Given the description of an element on the screen output the (x, y) to click on. 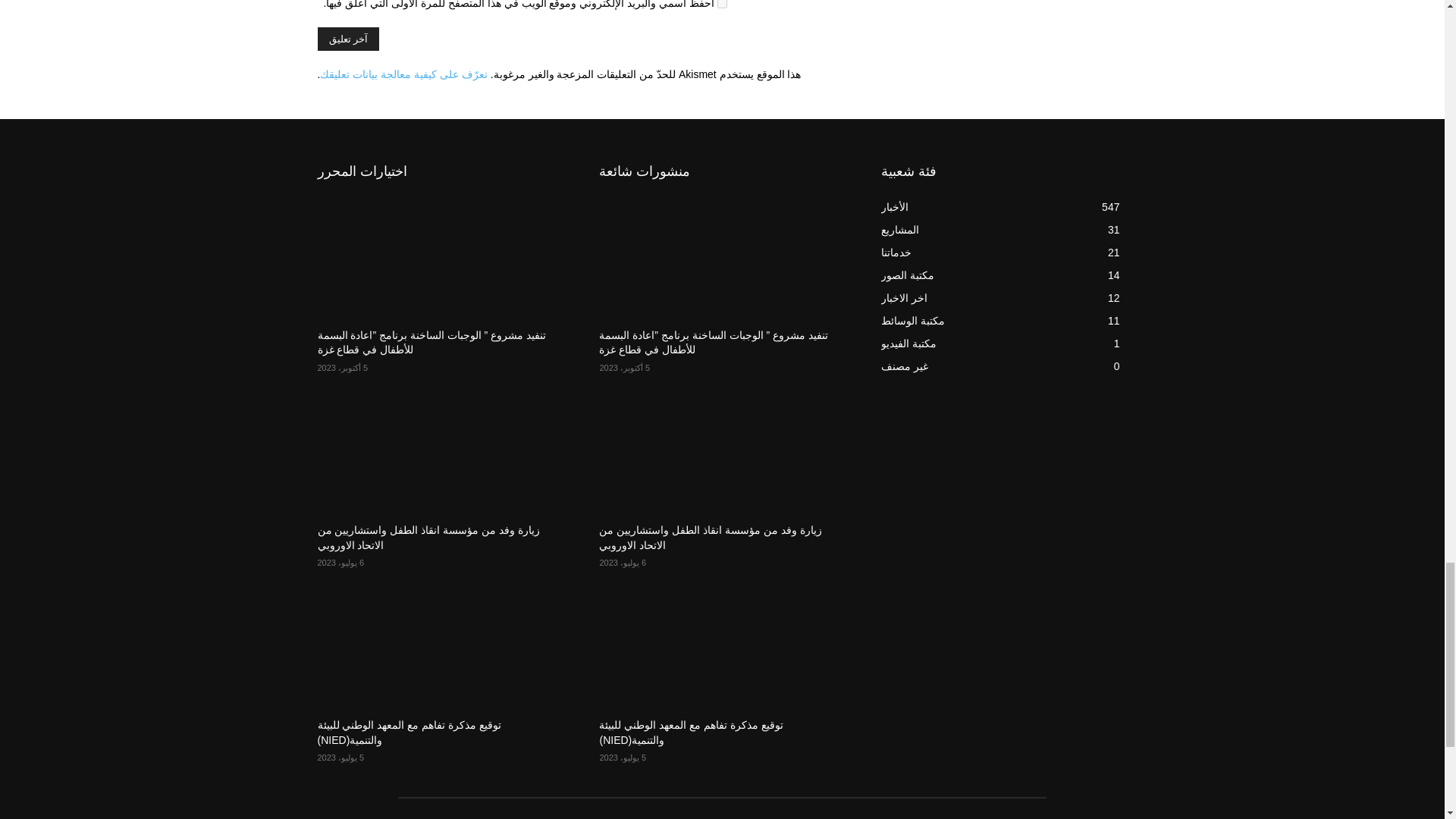
yes (721, 4)
